Given the description of an element on the screen output the (x, y) to click on. 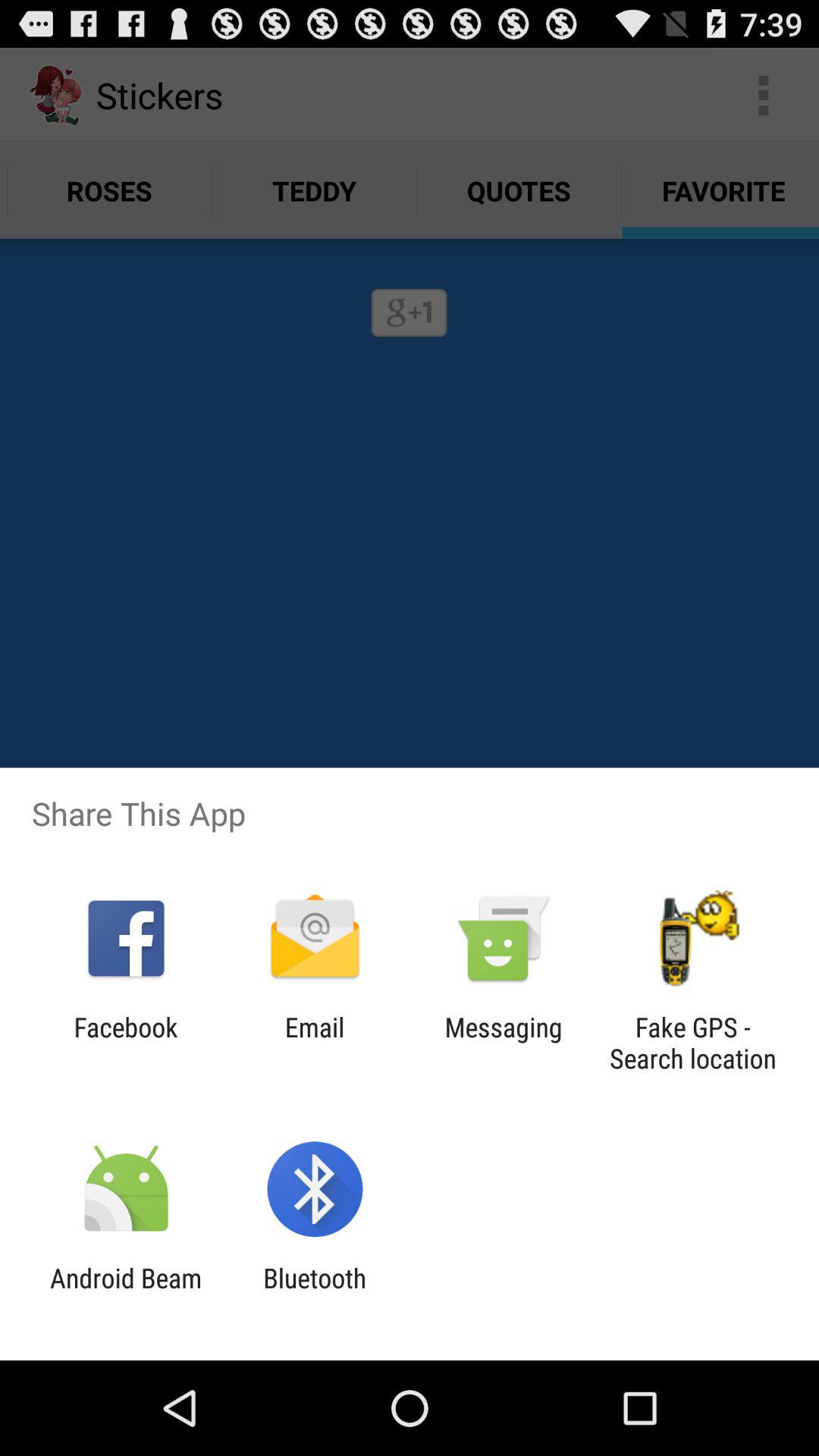
open icon next to bluetooth (125, 1293)
